Given the description of an element on the screen output the (x, y) to click on. 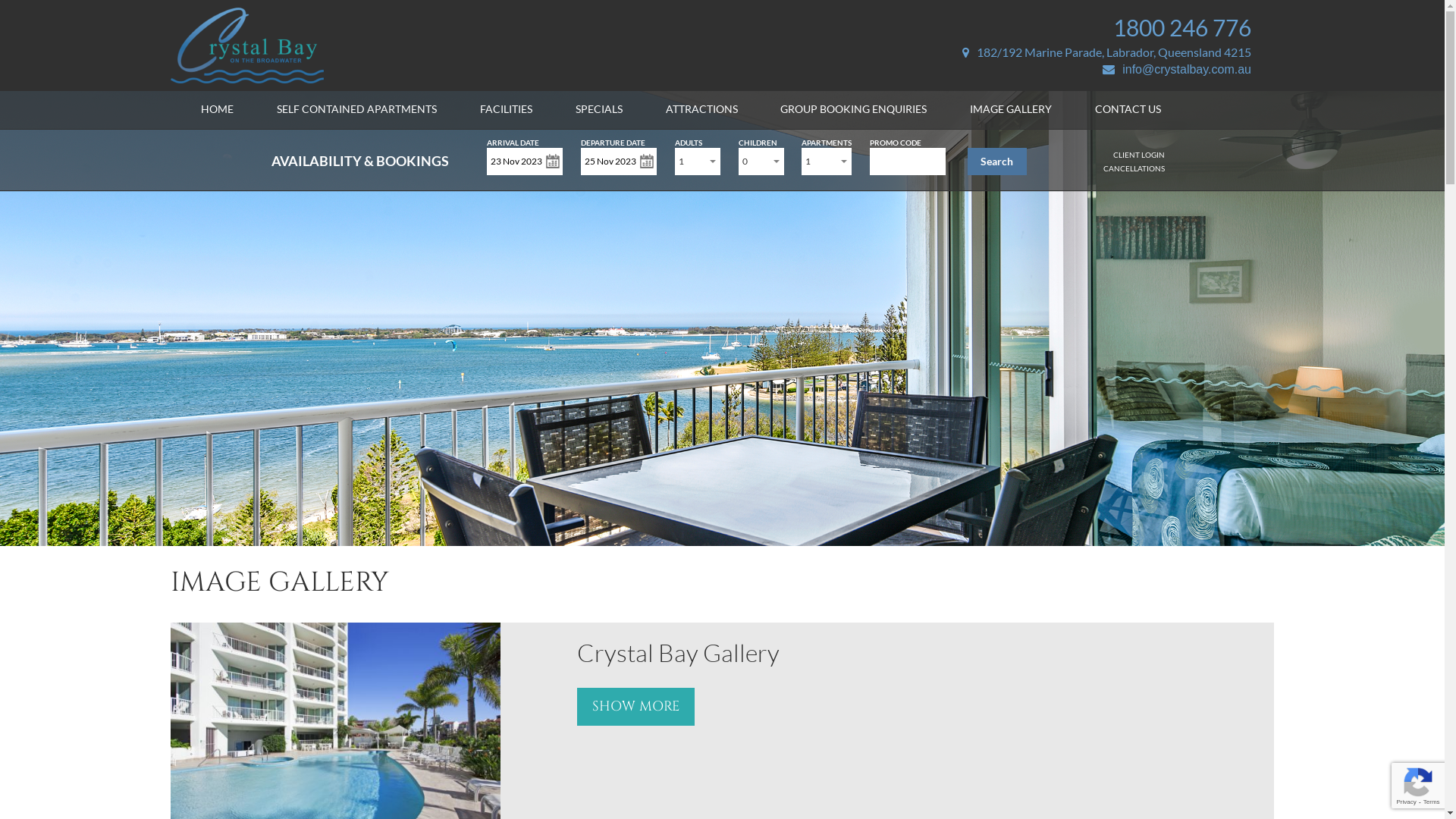
Crystal Bay Gallery Element type: text (678, 652)
Search Element type: text (996, 161)
1800 246 776 Element type: text (1182, 26)
SPECIALS Element type: text (598, 109)
CONTACT US Element type: text (1128, 109)
GROUP BOOKING ENQUIRIES Element type: text (853, 109)
FACILITIES Element type: text (506, 109)
CLIENT LOGIN Element type: text (1138, 154)
SHOW MORE Element type: text (635, 706)
CANCELLATIONS Element type: text (1133, 167)
SELF CONTAINED APARTMENTS Element type: text (356, 109)
ATTRACTIONS Element type: text (701, 109)
182/192 Marine Parade, Labrador, Queensland 4215 Element type: text (1106, 51)
IMAGE GALLERY Element type: text (1010, 109)
info@crystalbay.com.au Element type: text (1176, 68)
HOME Element type: text (216, 109)
